Given the description of an element on the screen output the (x, y) to click on. 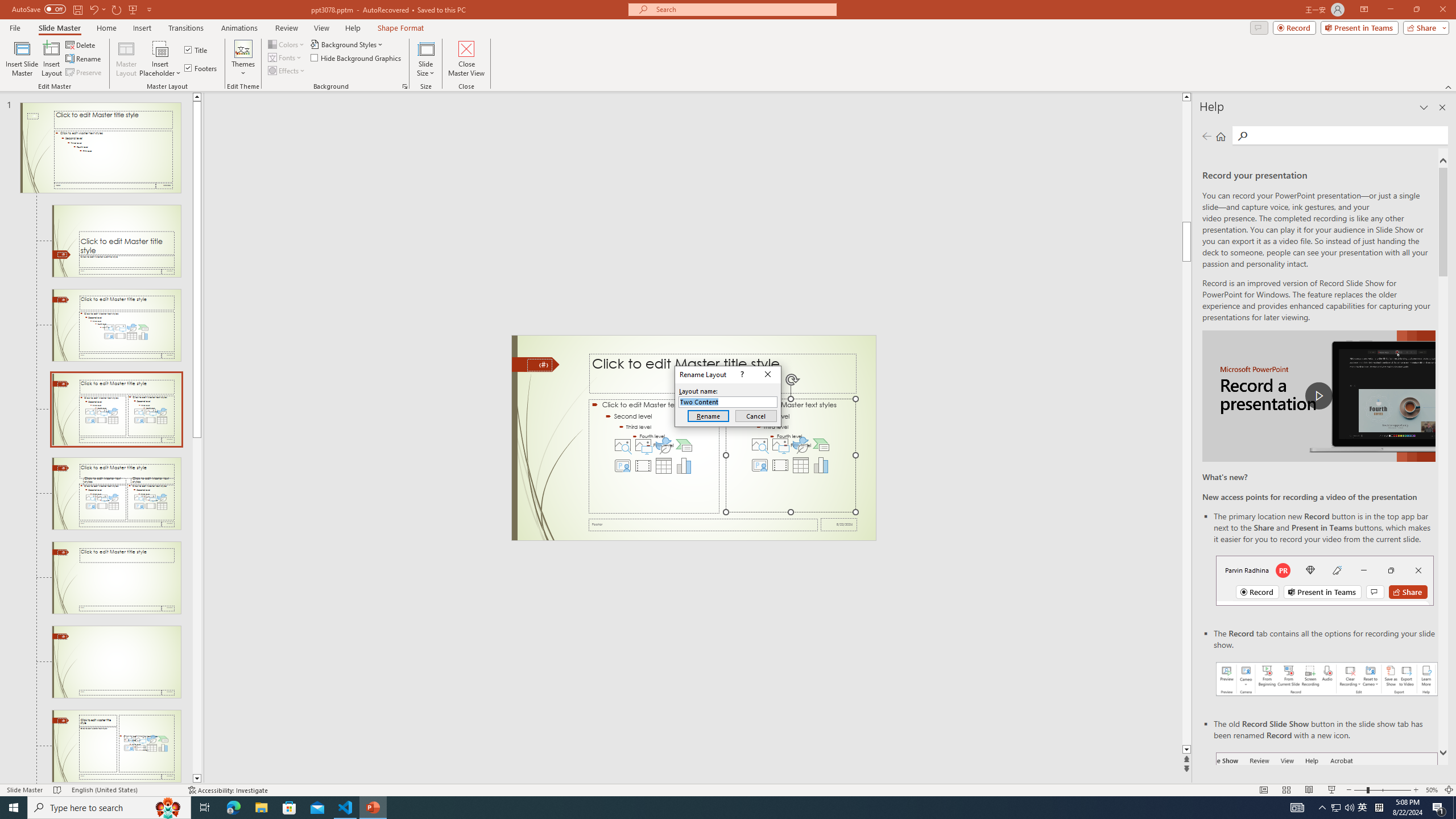
Hide Background Graphics (356, 56)
Zoom 50% (1431, 790)
